Given the description of an element on the screen output the (x, y) to click on. 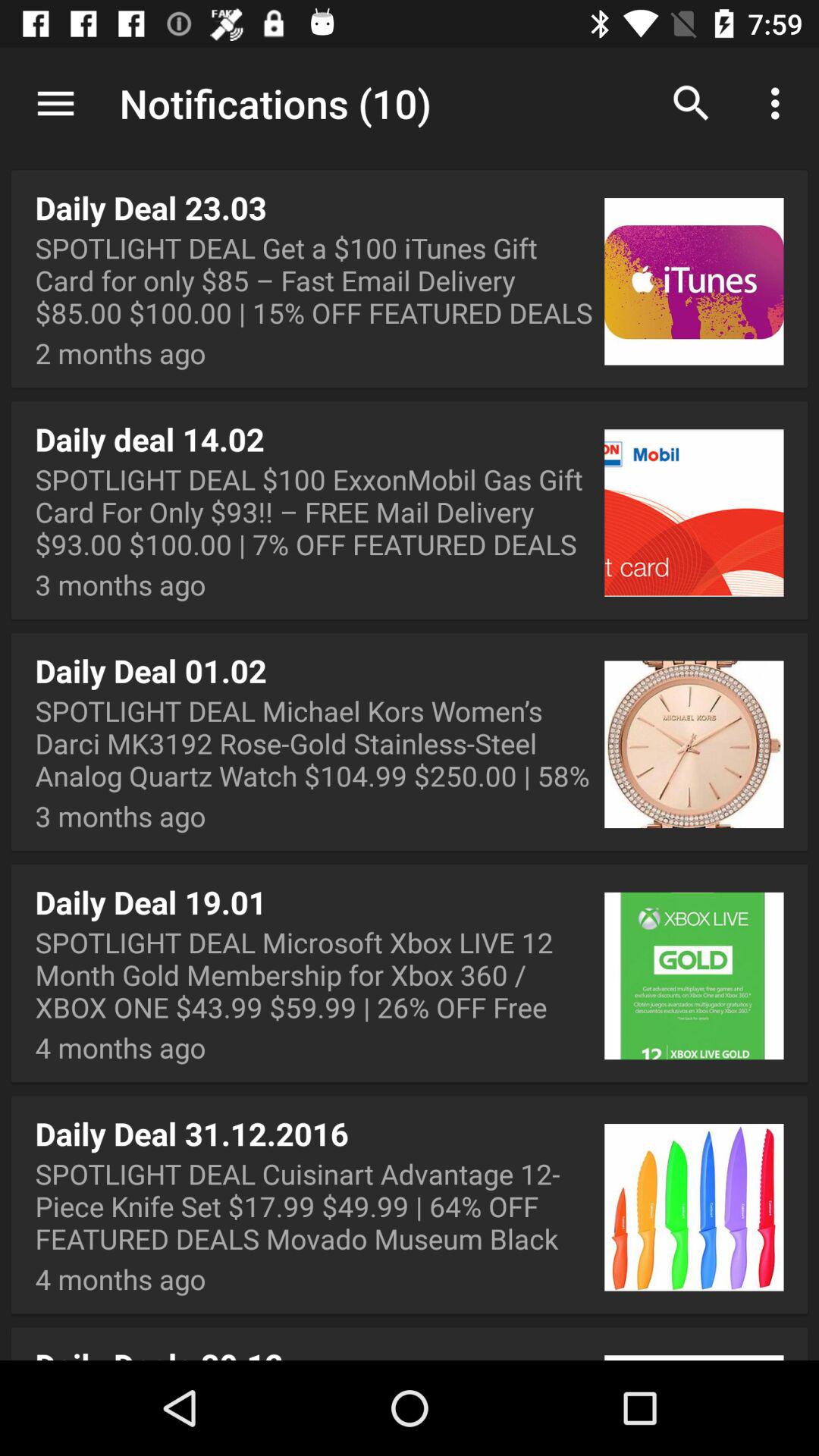
click the icon above the daily deal 23 app (409, 105)
